Given the description of an element on the screen output the (x, y) to click on. 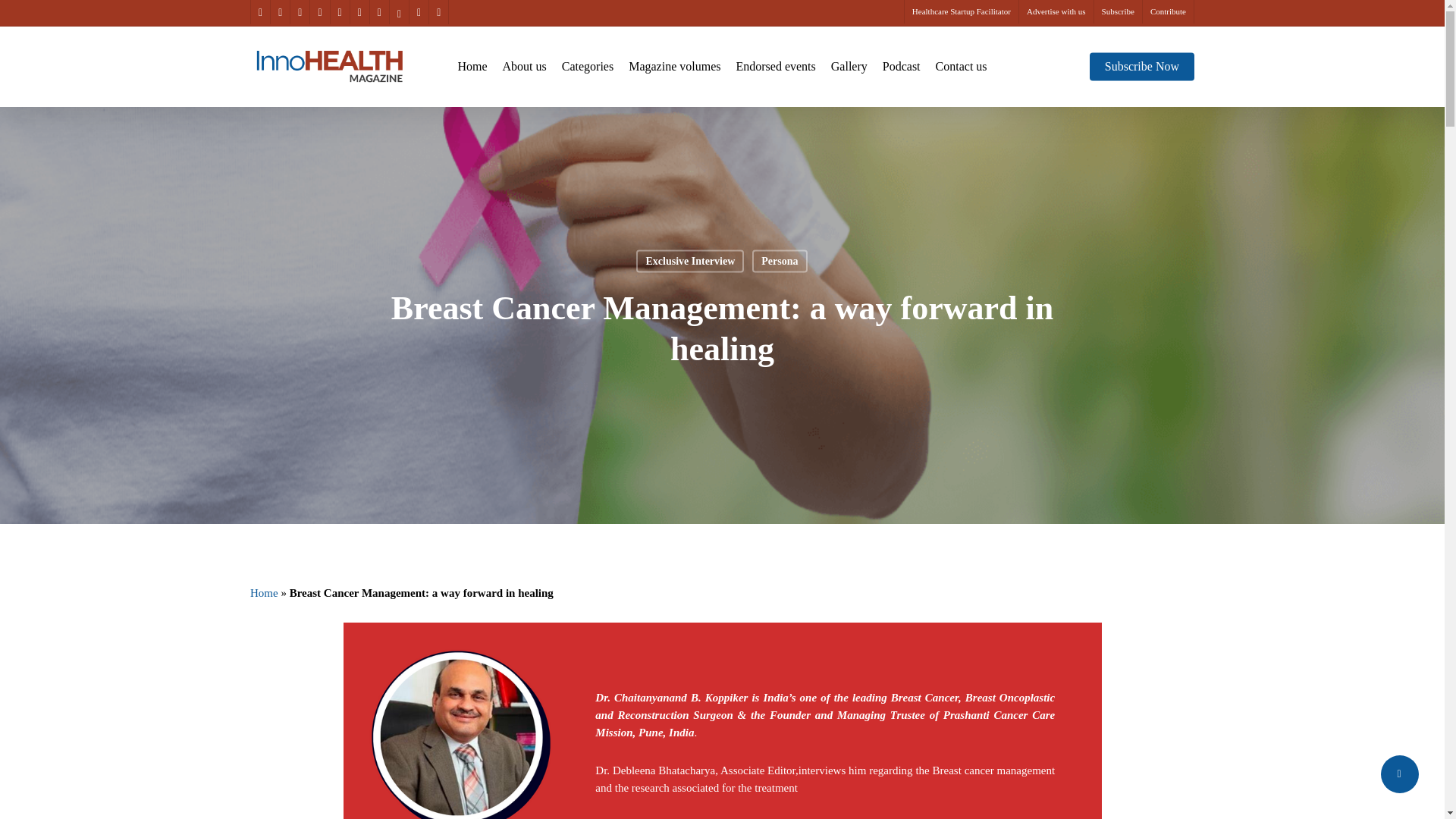
Advertise with us (1055, 11)
Healthcare Startup Facilitator (960, 11)
Home (471, 66)
Categories (587, 66)
Contribute (1167, 11)
About us (524, 66)
Subscribe (1117, 11)
